Given the description of an element on the screen output the (x, y) to click on. 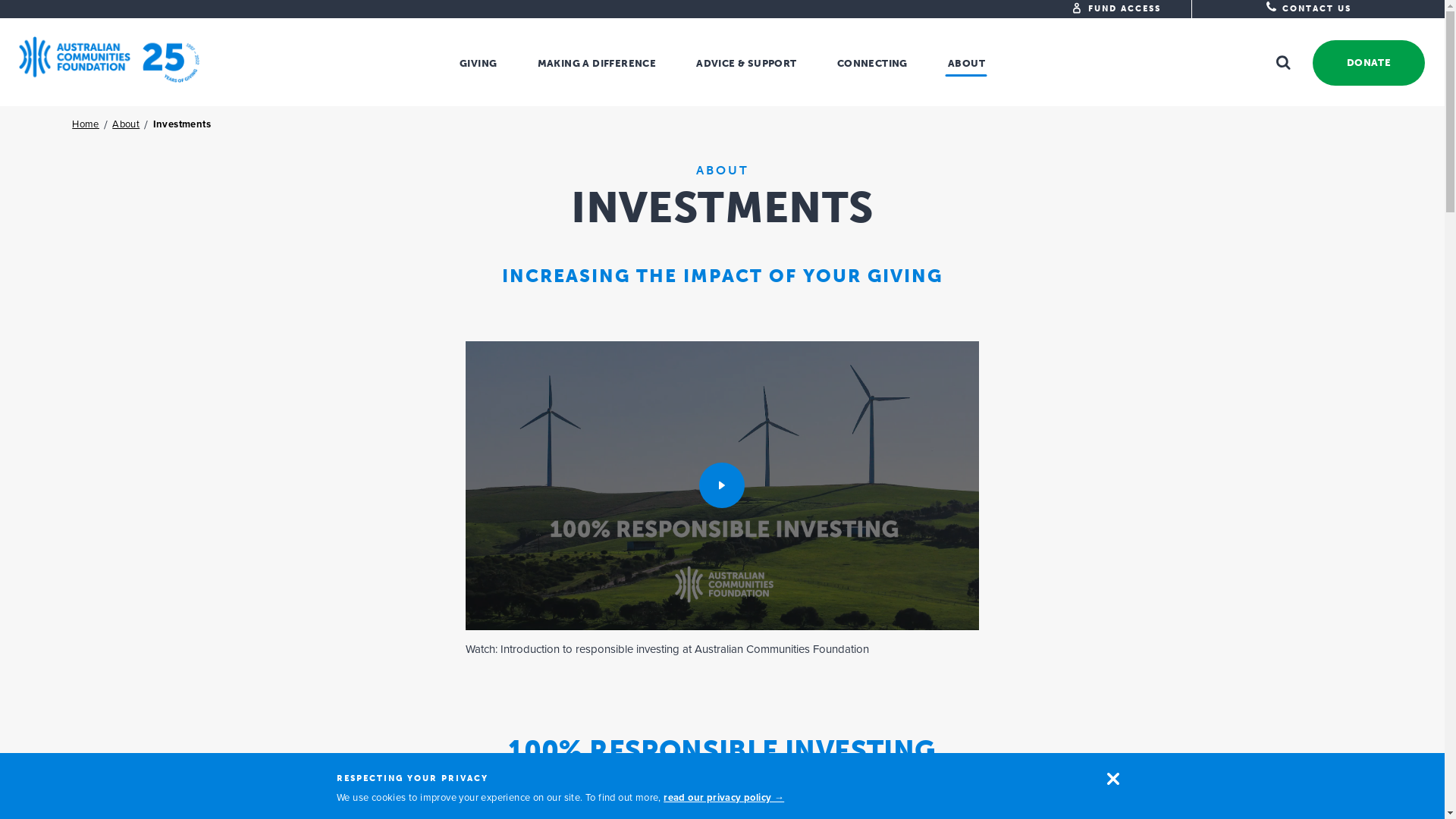
Home Element type: text (85, 123)
Investments Element type: text (181, 123)
About Element type: text (125, 123)
CONTACT US Element type: text (1308, 9)
DONATE Element type: text (1365, 62)
FUND ACCESS Element type: text (1125, 9)
